Given the description of an element on the screen output the (x, y) to click on. 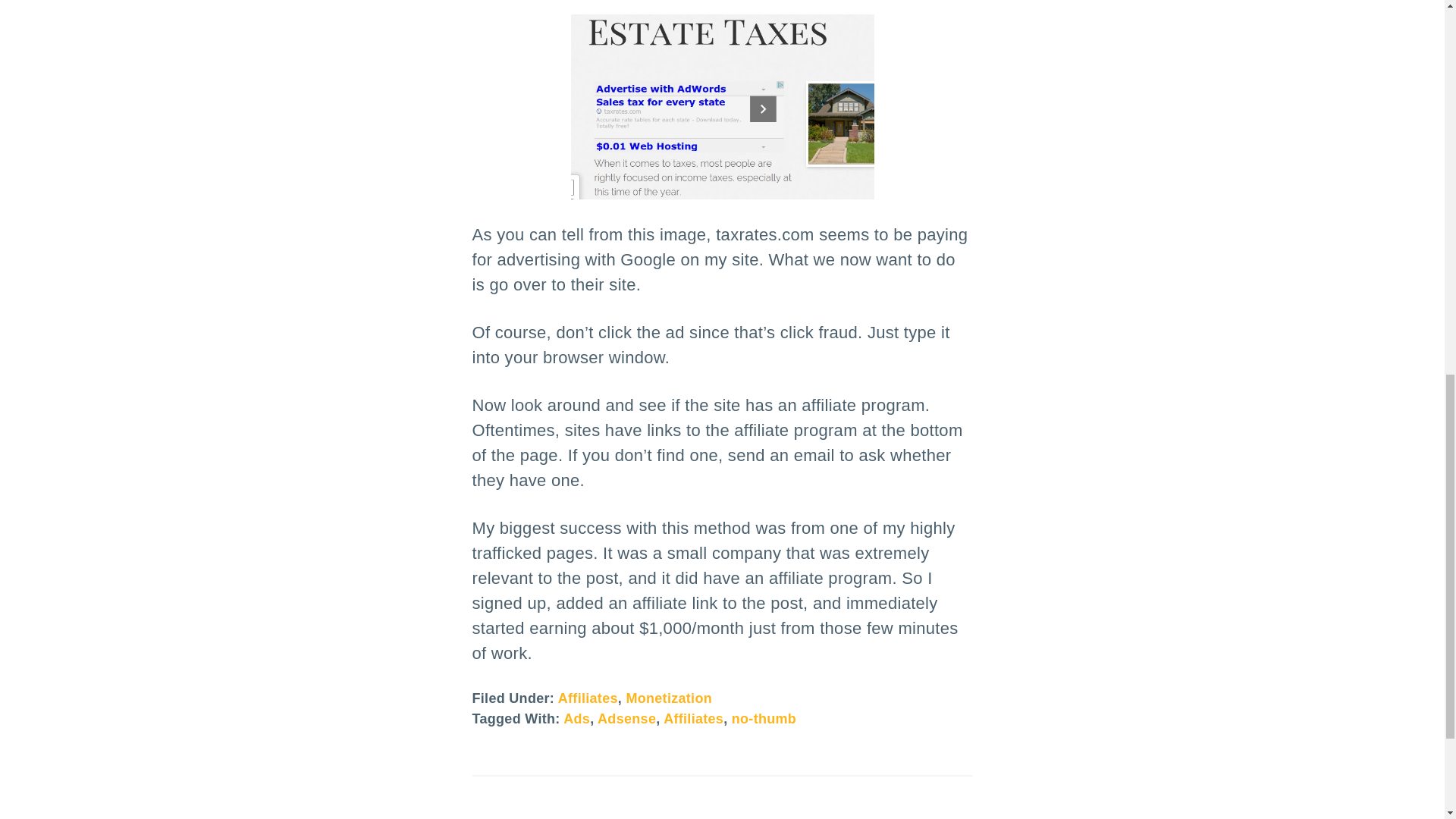
Monetization (668, 697)
no-thumb (764, 718)
Affiliates (587, 697)
Ads (576, 718)
Affiliates (693, 718)
Adsense (626, 718)
